Given the description of an element on the screen output the (x, y) to click on. 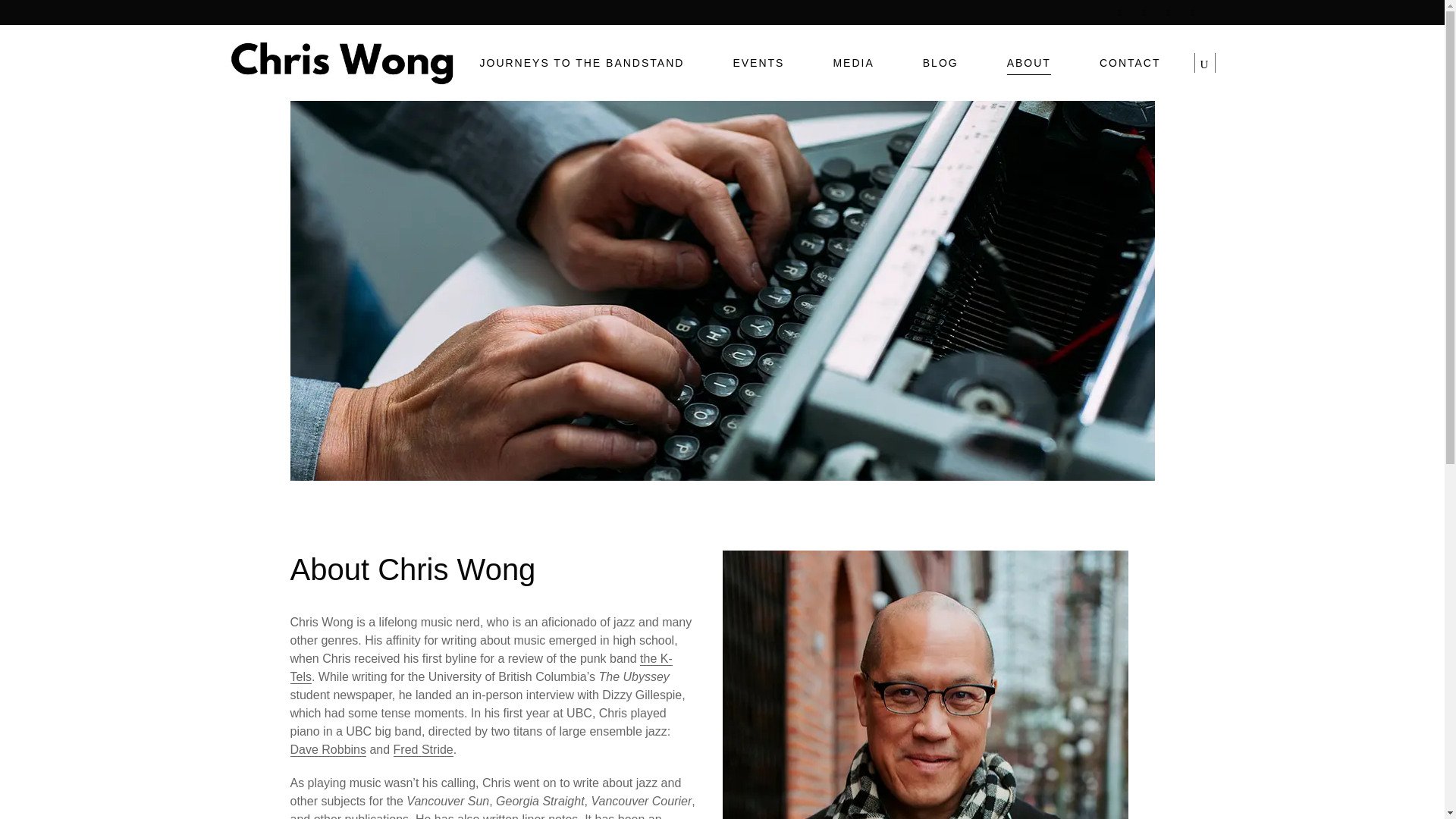
ABOUT (1028, 62)
EVENTS (757, 62)
JOURNEYS TO THE BANDSTAND (580, 62)
Dave Robbins (327, 749)
the K-Tels (480, 667)
Fred Stride (422, 749)
MEDIA (853, 62)
CONTACT (1130, 62)
BLOG (940, 62)
Page 312 (492, 716)
